Given the description of an element on the screen output the (x, y) to click on. 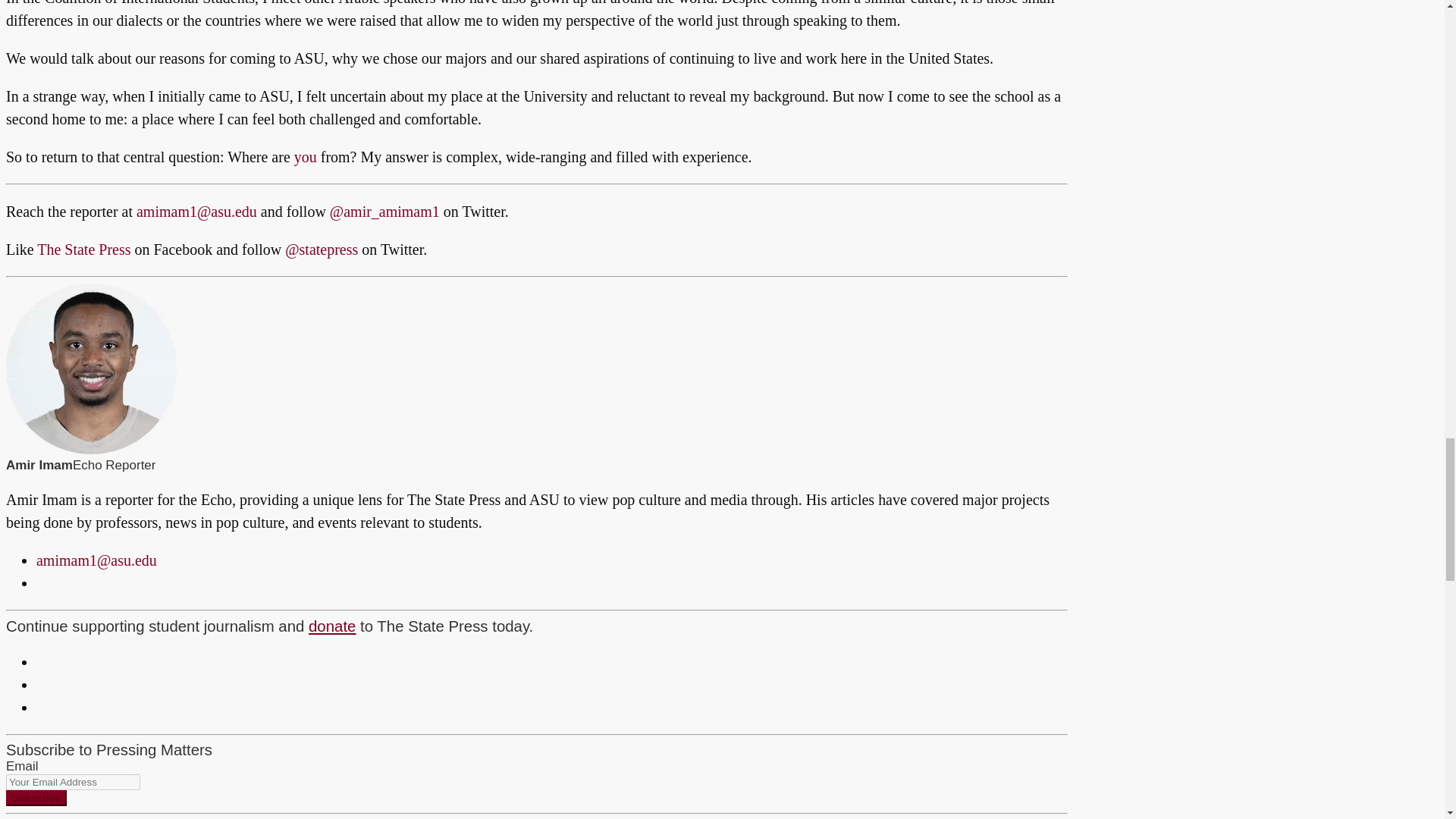
donate (331, 626)
The State Press (84, 248)
Subscribe (35, 797)
Subscribe (35, 797)
you (305, 156)
